Given the description of an element on the screen output the (x, y) to click on. 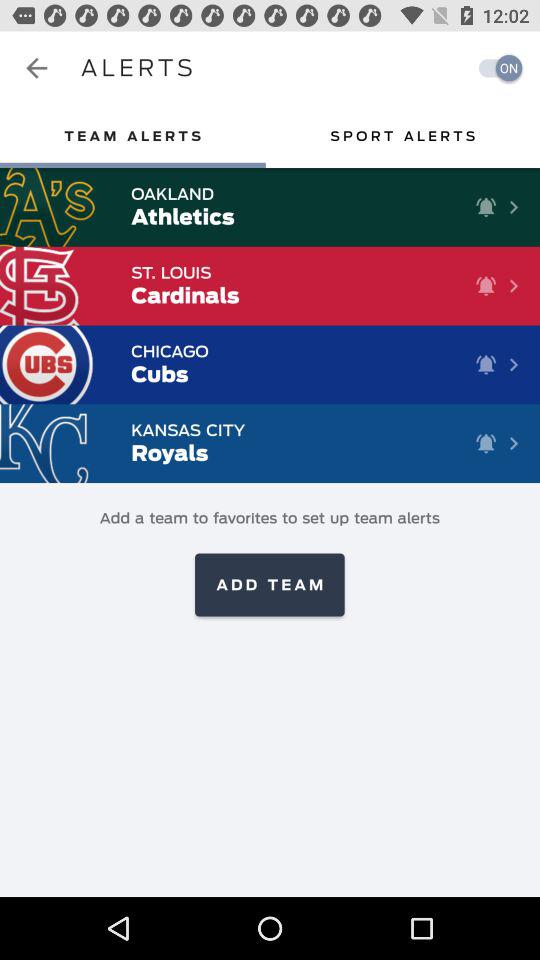
click on the button  (514, 206)
click on second right arrow in web page (514, 285)
click the button after the first bell icon on the web page (514, 206)
